Given the description of an element on the screen output the (x, y) to click on. 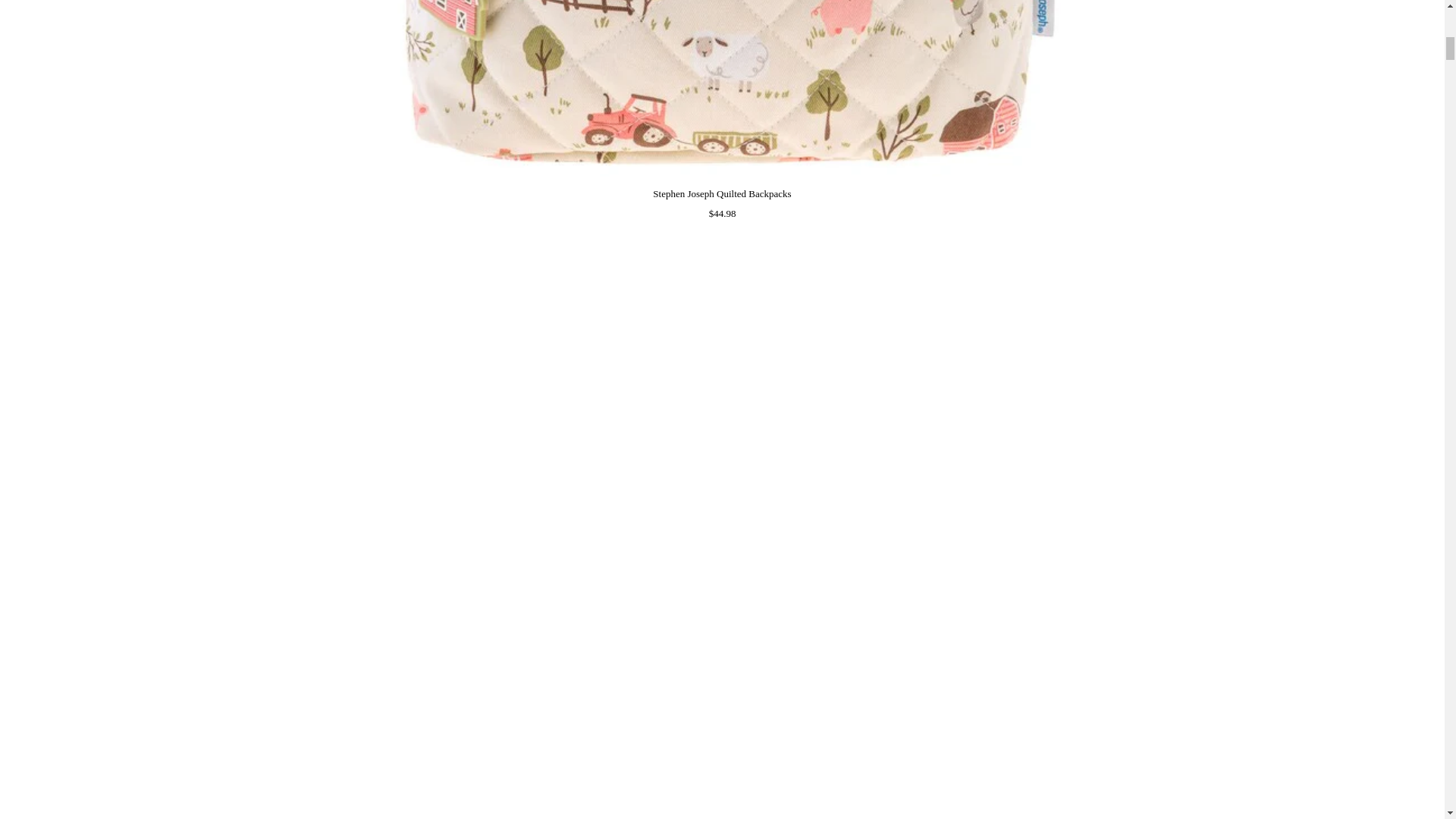
Stephen Joseph Quilted Backpacks (721, 193)
